Given the description of an element on the screen output the (x, y) to click on. 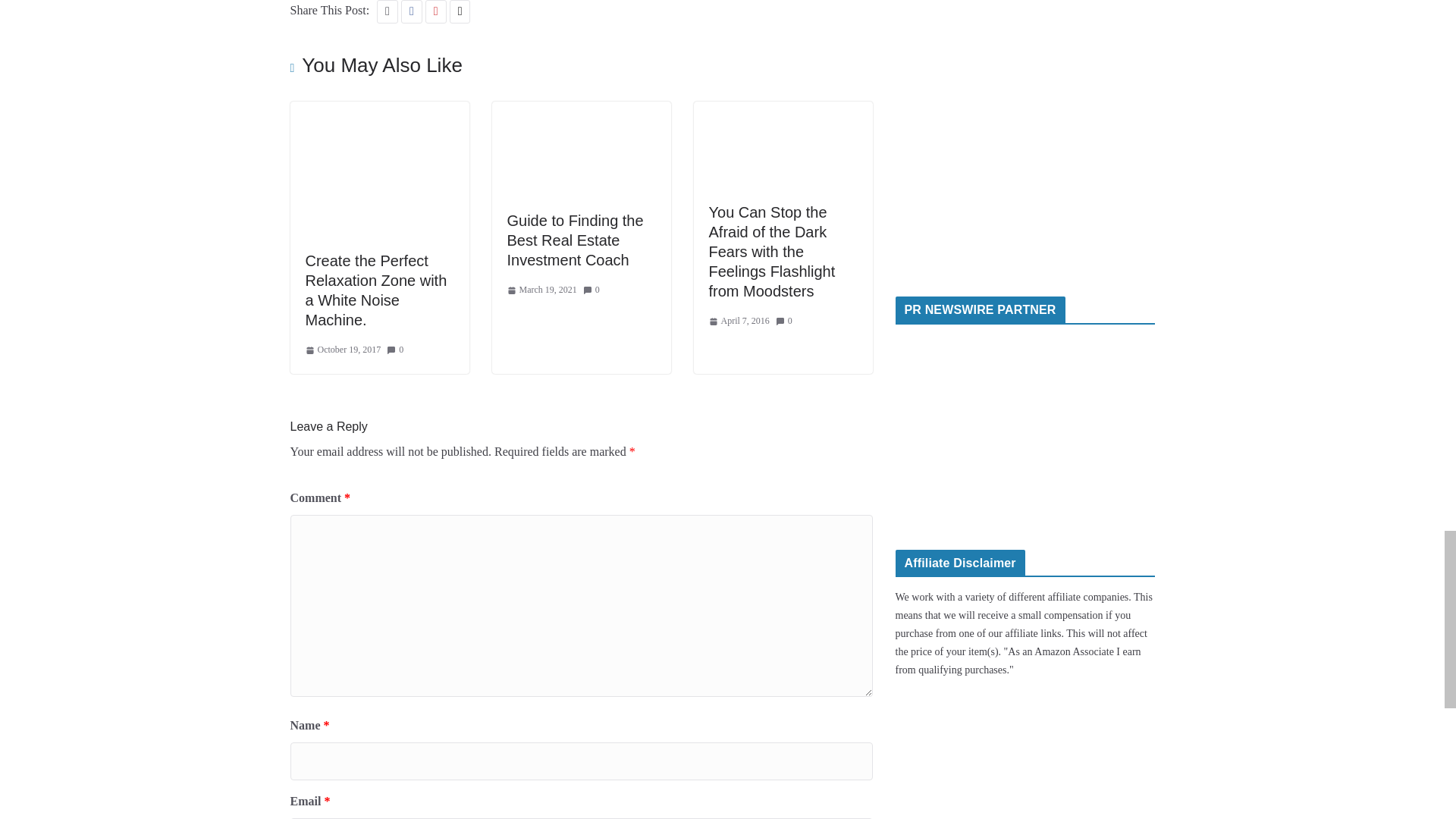
4:14 pm (342, 350)
Guide to Finding the Best Real Estate Investment Coach (580, 111)
